Given the description of an element on the screen output the (x, y) to click on. 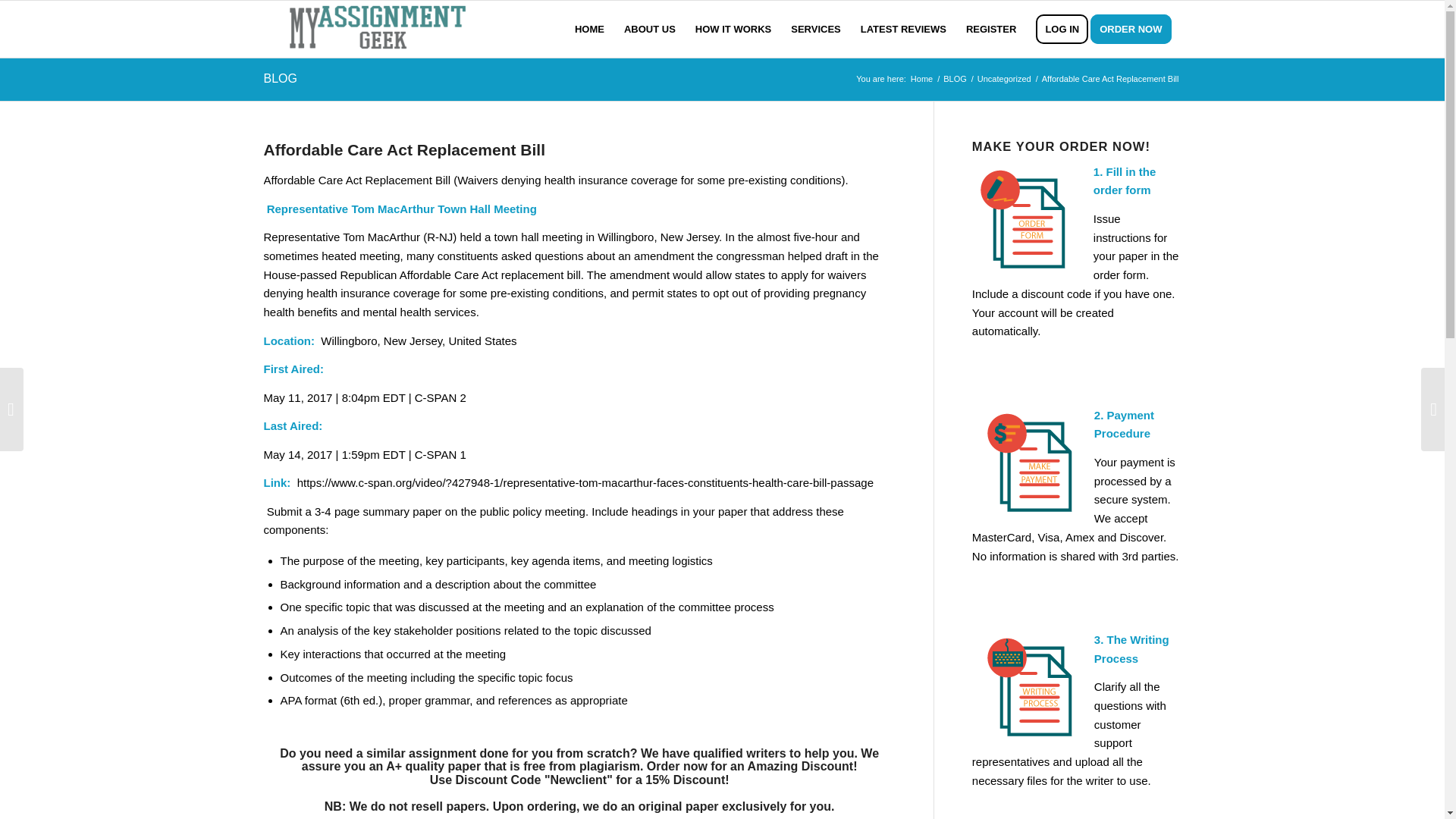
SERVICES (815, 28)
BLOG (954, 79)
ABOUT US (649, 28)
BLOG (280, 78)
Permanent Link: Affordable Care Act Replacement Bill (403, 149)
LATEST REVIEWS (903, 28)
Affordable Care Act Replacement Bill (403, 149)
LOG IN (1061, 28)
Uncategorized (1004, 79)
Permanent Link: BLOG (280, 78)
REGISTER (991, 28)
HOW IT WORKS (732, 28)
Home (921, 79)
ORDER NOW (1135, 28)
BLOG (954, 79)
